Given the description of an element on the screen output the (x, y) to click on. 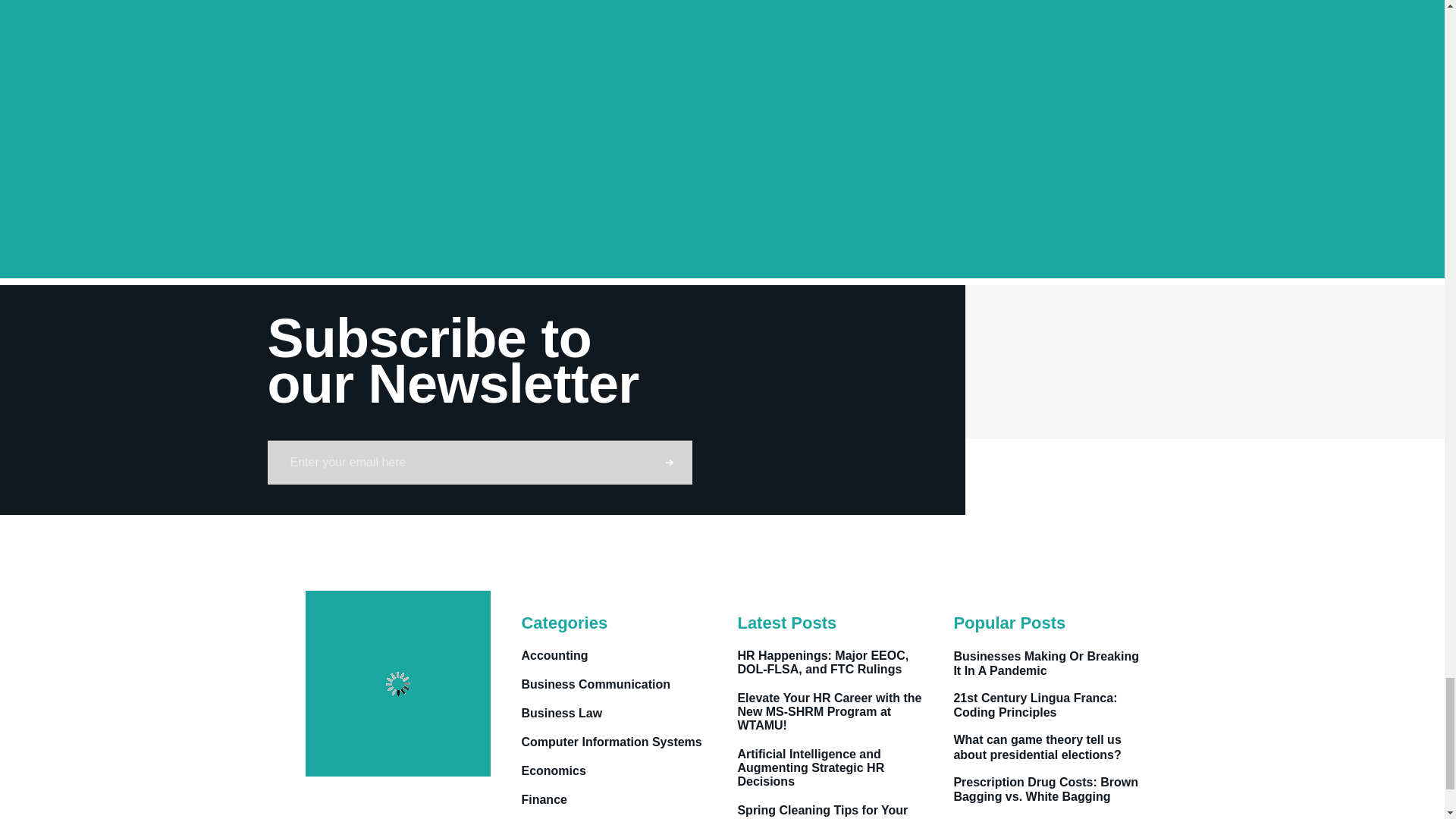
Submit (668, 462)
